Given the description of an element on the screen output the (x, y) to click on. 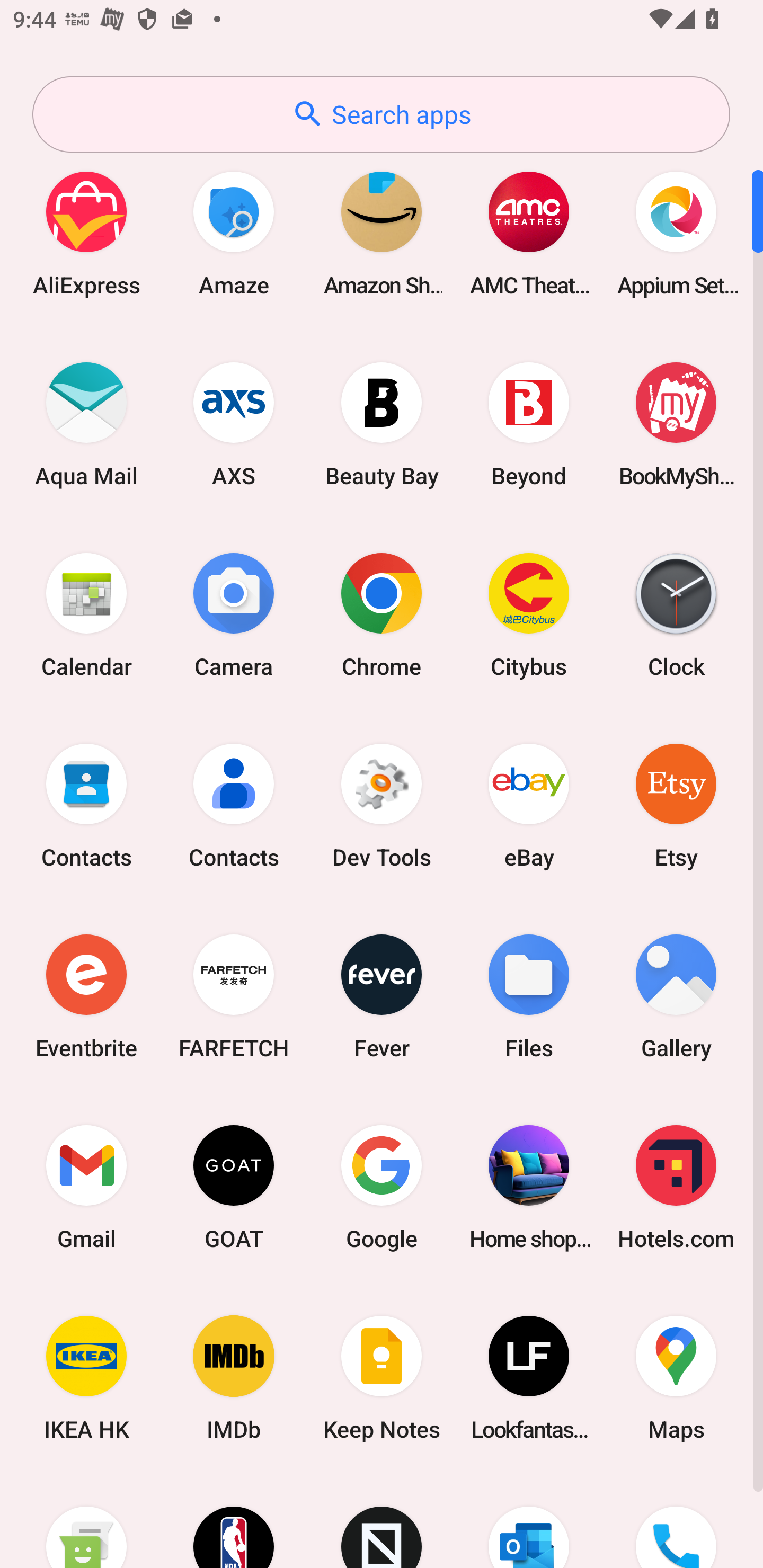
  Search apps (381, 114)
AliExpress (86, 233)
Amaze (233, 233)
Amazon Shopping (381, 233)
AMC Theatres (528, 233)
Appium Settings (676, 233)
Aqua Mail (86, 424)
AXS (233, 424)
Beauty Bay (381, 424)
Beyond (528, 424)
BookMyShow (676, 424)
Calendar (86, 614)
Camera (233, 614)
Chrome (381, 614)
Citybus (528, 614)
Clock (676, 614)
Contacts (86, 805)
Contacts (233, 805)
Dev Tools (381, 805)
eBay (528, 805)
Etsy (676, 805)
Eventbrite (86, 996)
FARFETCH (233, 996)
Fever (381, 996)
Files (528, 996)
Gallery (676, 996)
Gmail (86, 1186)
GOAT (233, 1186)
Google (381, 1186)
Home shopping (528, 1186)
Hotels.com (676, 1186)
IKEA HK (86, 1377)
IMDb (233, 1377)
Keep Notes (381, 1377)
Lookfantastic (528, 1377)
Maps (676, 1377)
